Given the description of an element on the screen output the (x, y) to click on. 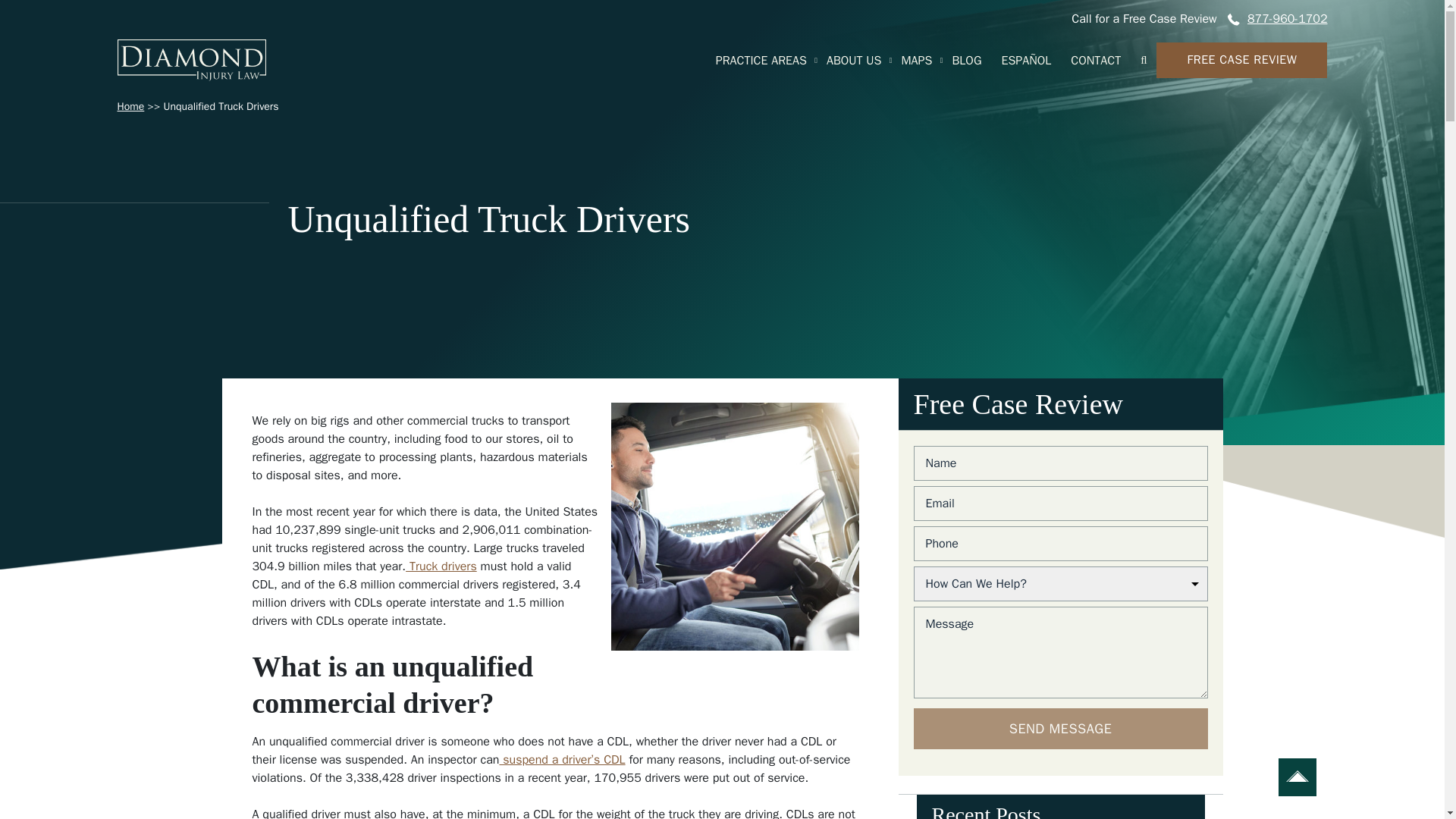
ABOUT US (854, 60)
Practice Areas (761, 60)
877-960-1702 (1285, 18)
MAPS (916, 60)
PRACTICE AREAS (761, 60)
